Given the description of an element on the screen output the (x, y) to click on. 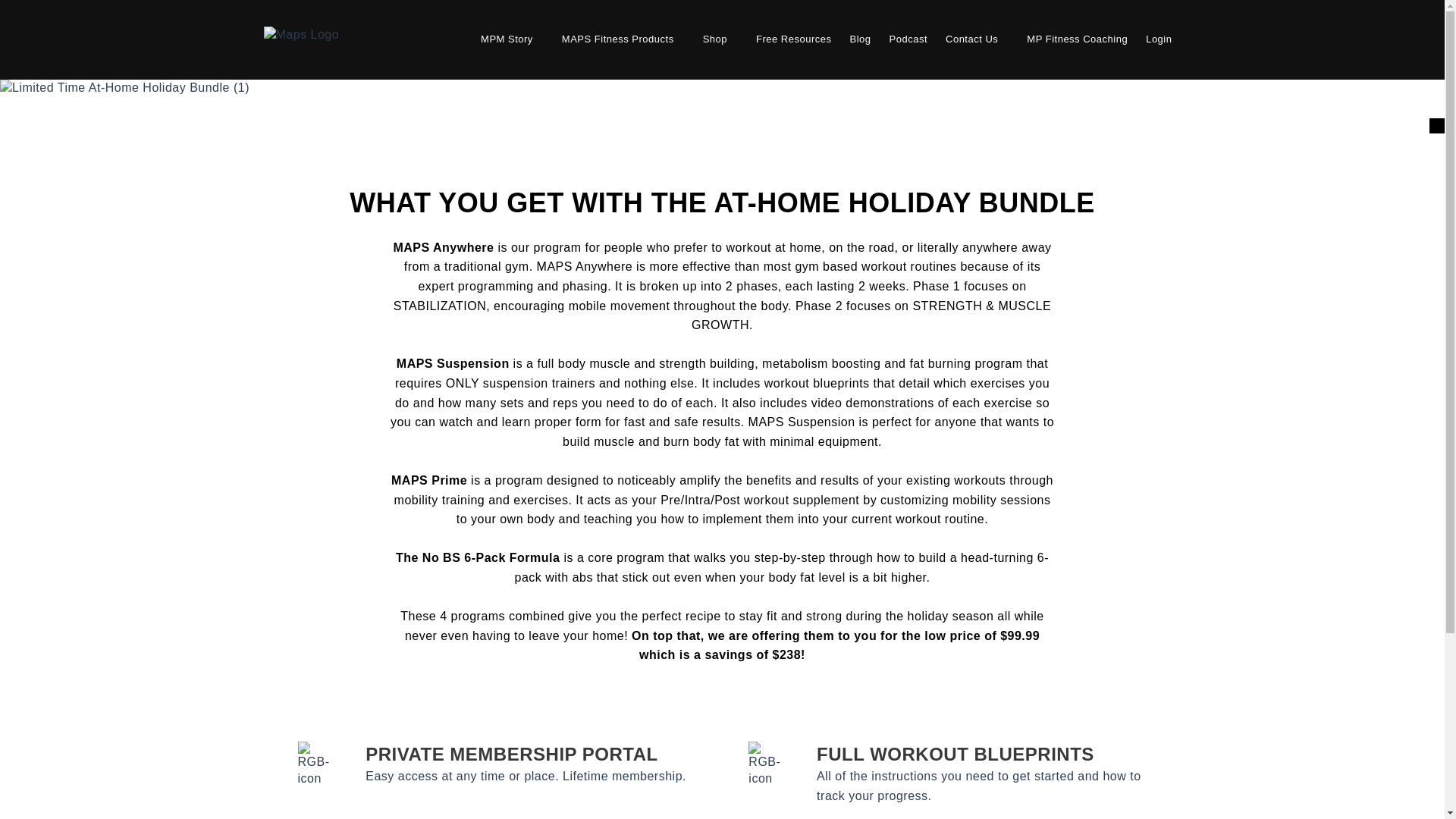
MPM Story (506, 38)
MAPS Fitness Products (617, 38)
Maps Logo (301, 34)
